Given the description of an element on the screen output the (x, y) to click on. 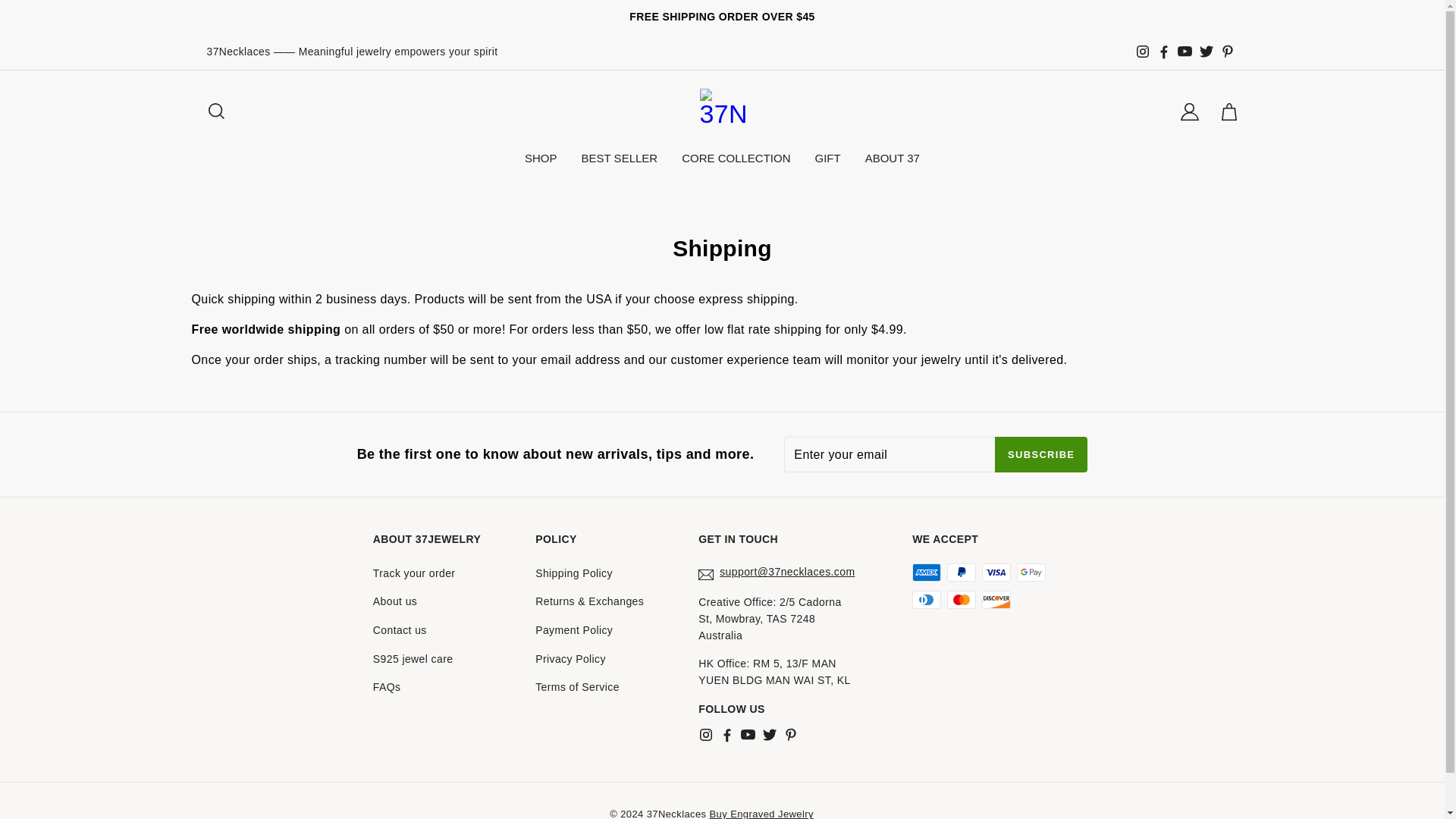
BEST SELLER (619, 158)
CORE COLLECTION (735, 158)
